Given the description of an element on the screen output the (x, y) to click on. 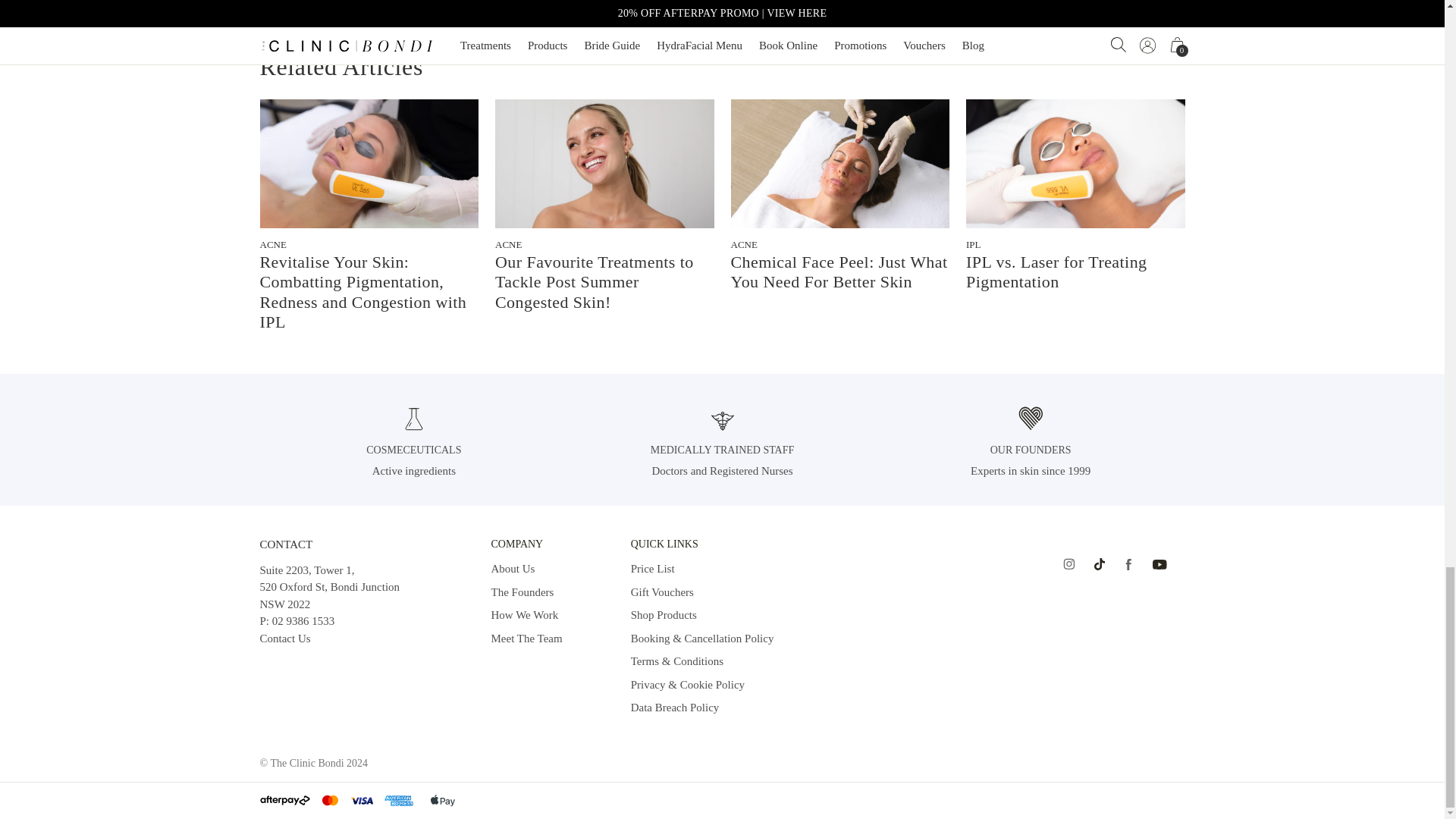
The Clinic Bondi on Instagram (1068, 563)
tel:0293861533 (303, 621)
Contact The Clinic (284, 638)
The Clinic Bondi on YouTube (1160, 563)
